Given the description of an element on the screen output the (x, y) to click on. 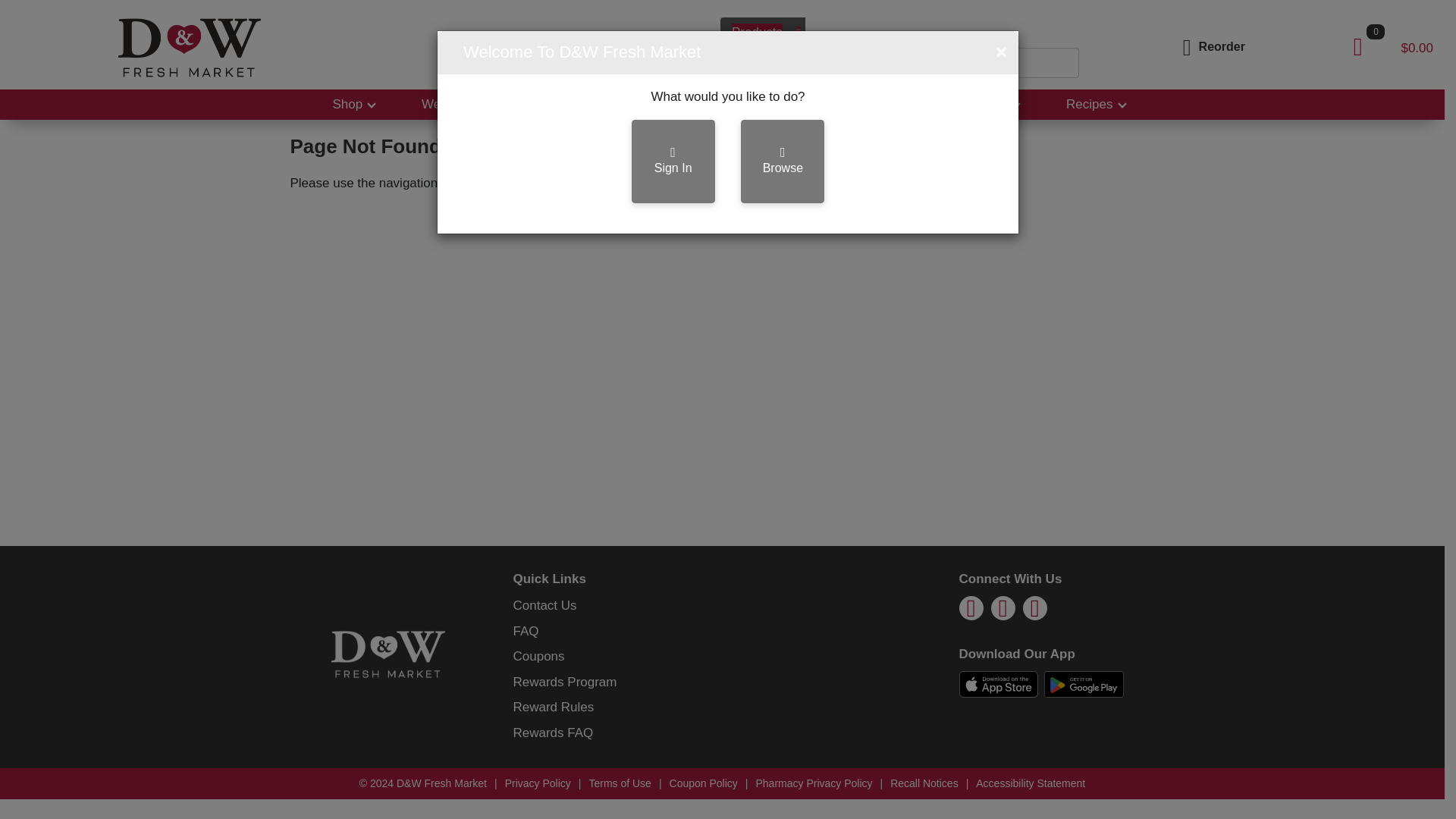
facebook (970, 612)
youtube (1034, 612)
pinterest (1002, 612)
Reorder (1210, 46)
